Given the description of an element on the screen output the (x, y) to click on. 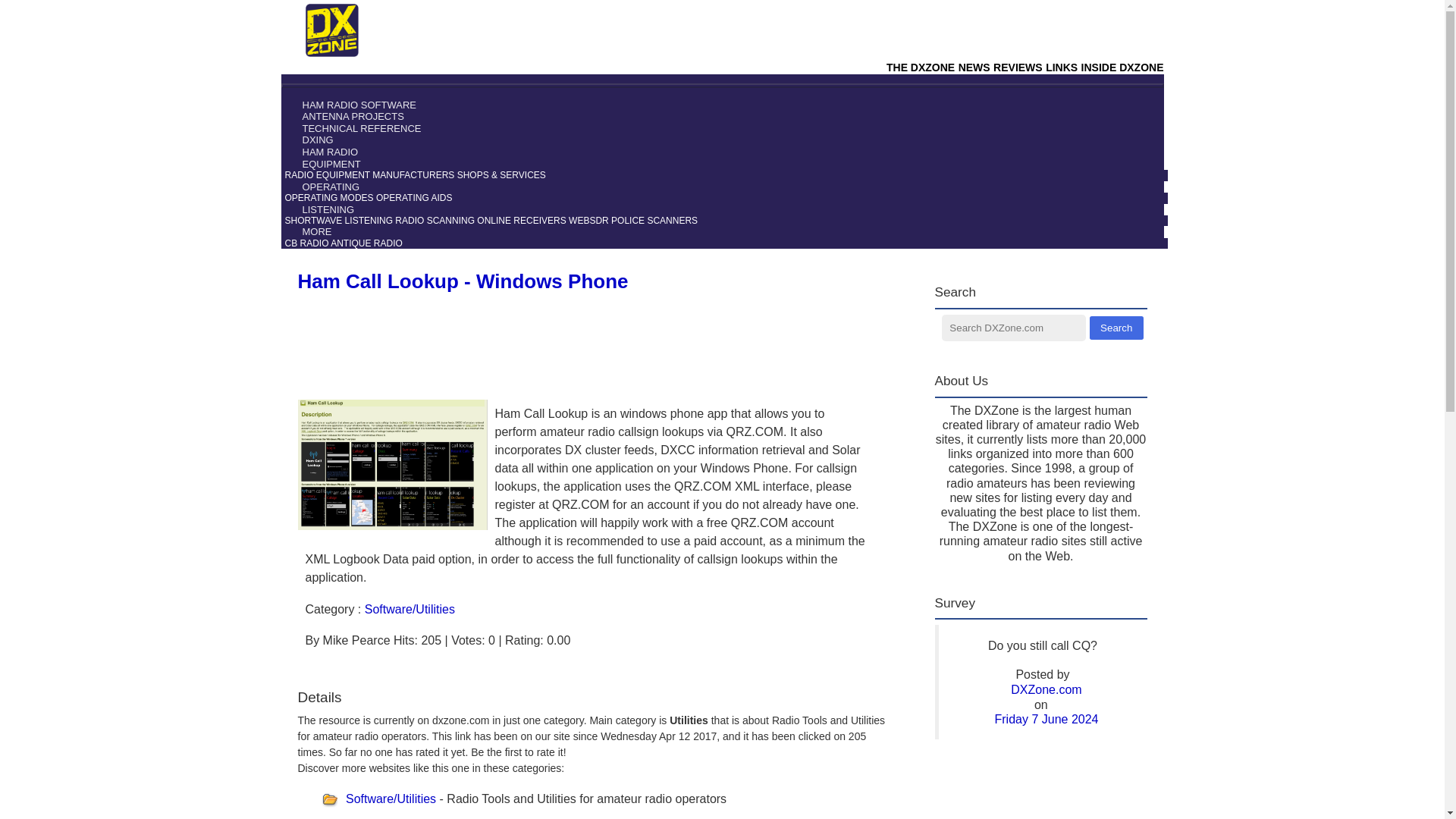
OPERATING AIDS (413, 197)
RADIO SCANNING (434, 220)
POLICE SCANNERS (654, 220)
Radio Tools and Utilities for amateur radio operators (390, 798)
ANTENNA PROJECTS (344, 116)
The DXZone.com - Ham Radio Guide (331, 51)
DXING (309, 139)
OPERATING MODES (329, 197)
TECHNICAL REFERENCE (353, 128)
LINKS (1061, 67)
LISTENING (320, 208)
Search (1115, 327)
REVIEWS (1017, 67)
Ham Call Lookup - Windows Phone (462, 281)
RADIO EQUIPMENT (327, 174)
